Given the description of an element on the screen output the (x, y) to click on. 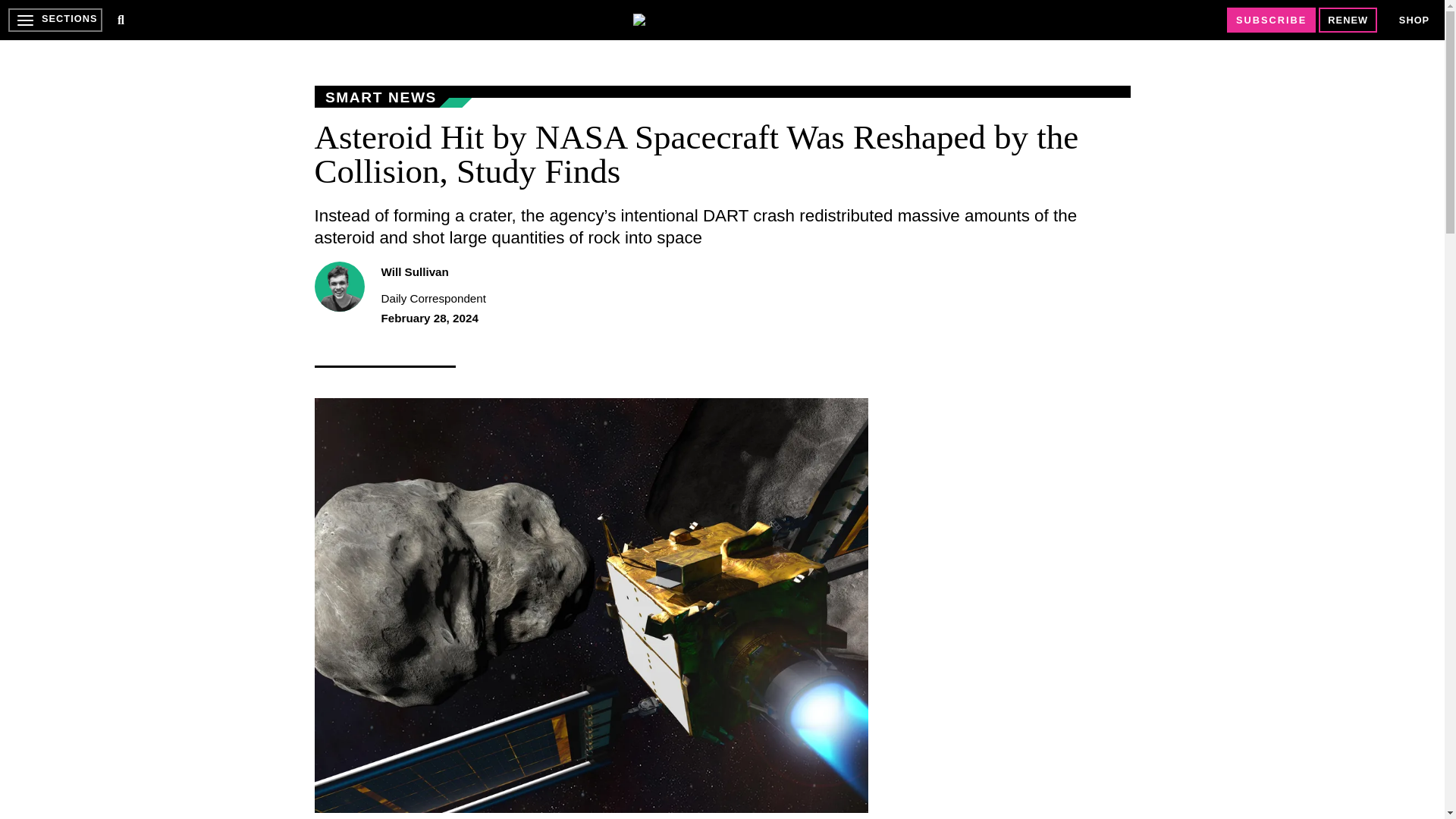
SUBSCRIBE (1271, 19)
RENEW (1348, 19)
SHOP (1413, 19)
SECTIONS (55, 19)
SUBSCRIBE (1271, 19)
RENEW (1347, 19)
SHOP (1414, 19)
